Given the description of an element on the screen output the (x, y) to click on. 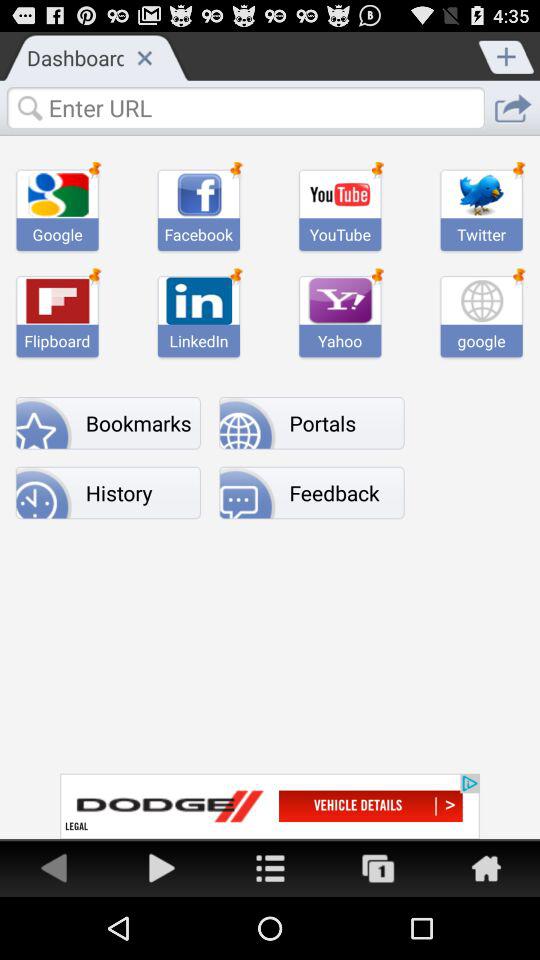
play (162, 867)
